Given the description of an element on the screen output the (x, y) to click on. 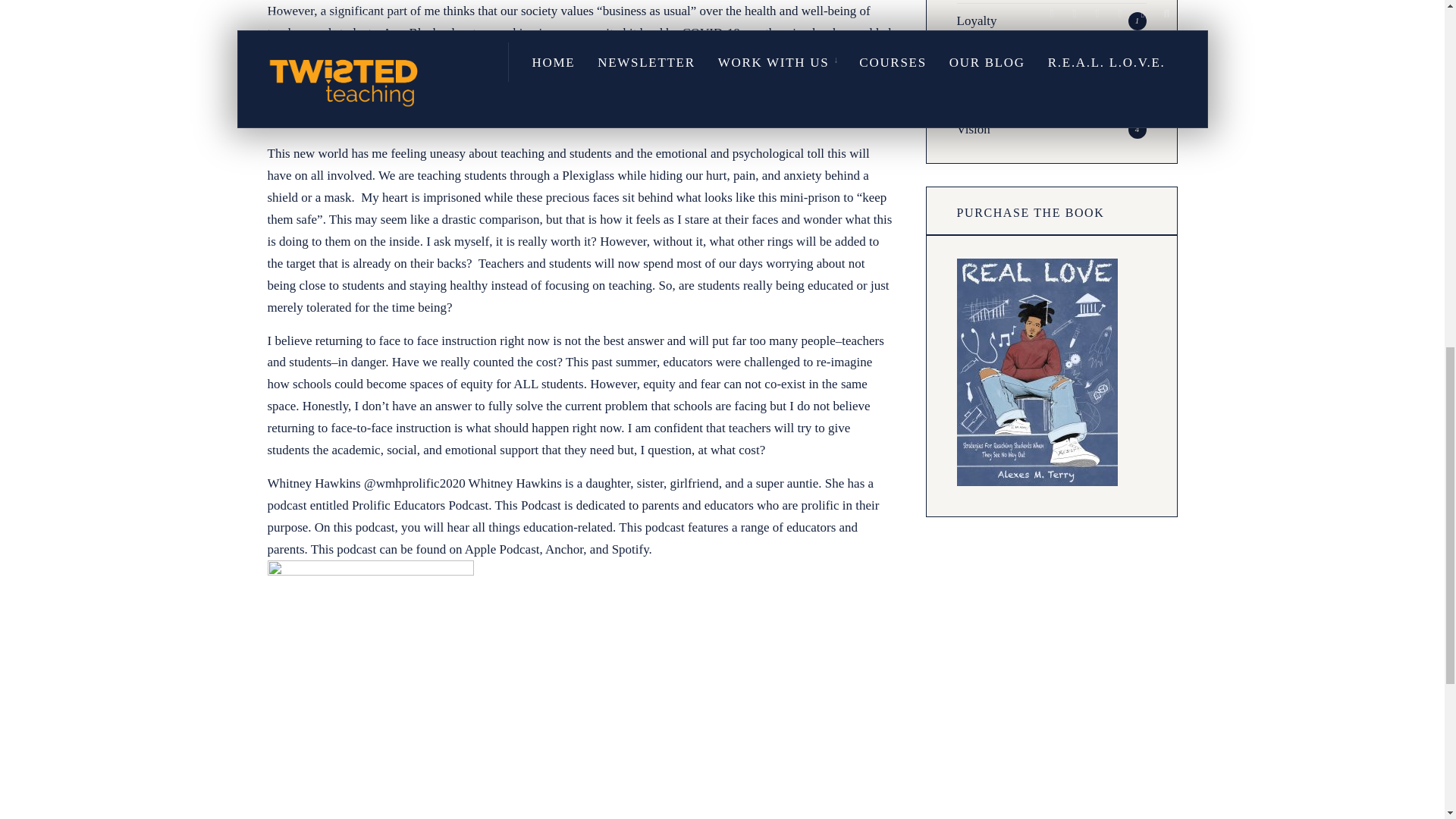
Vision (973, 129)
Overcome Obstacles (1010, 56)
Loyalty (976, 20)
Respect (976, 93)
